Given the description of an element on the screen output the (x, y) to click on. 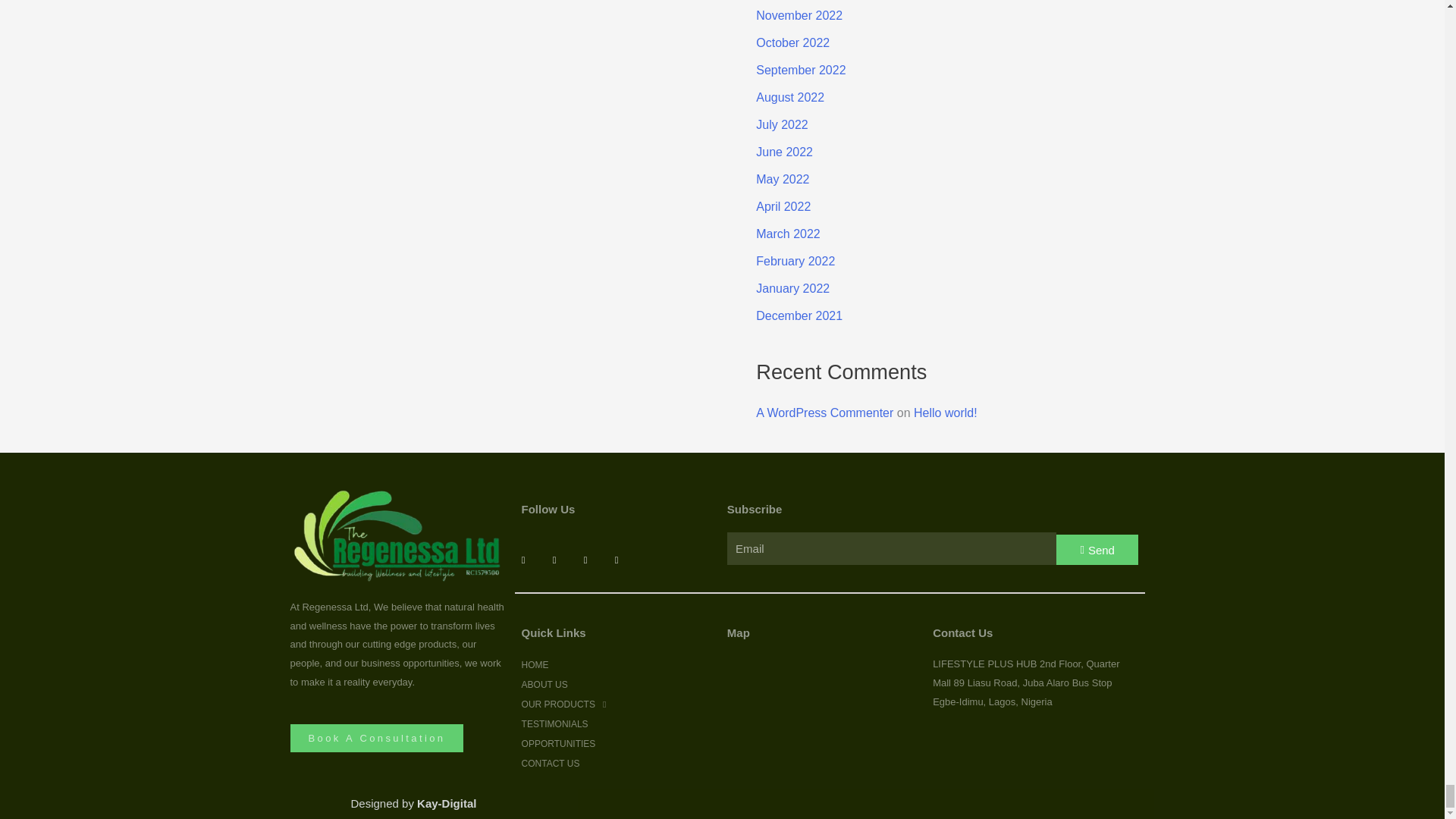
89 Liasu Road, Egbe-Idimu, Lagos, Nigeria (808, 712)
